Given the description of an element on the screen output the (x, y) to click on. 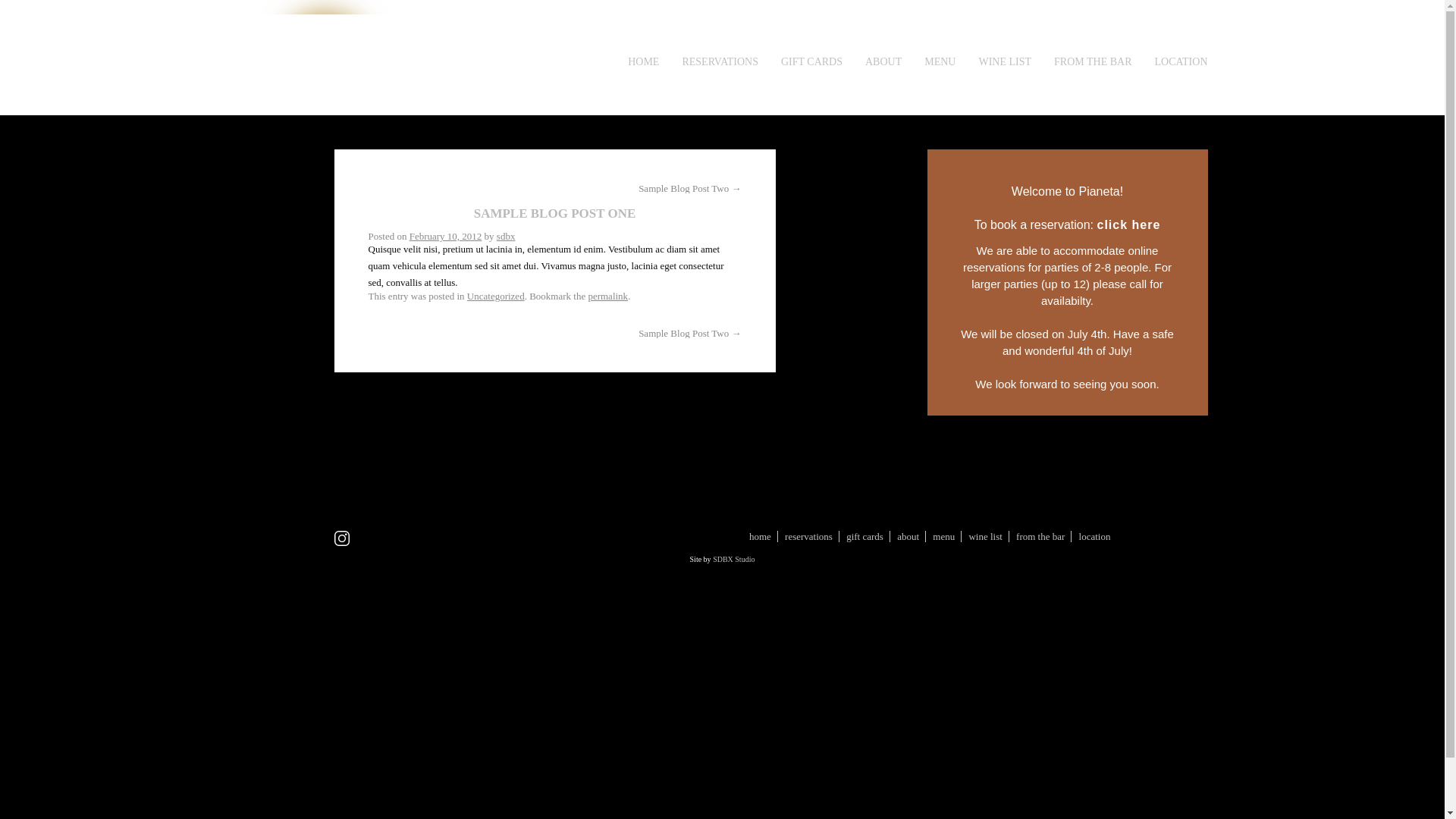
ABOUT (882, 61)
GIFT CARDS (811, 61)
FROM THE BAR (1092, 61)
permalink (607, 296)
LOCATION (1180, 61)
8:04 pm (445, 235)
sdbx (505, 235)
MENU (939, 61)
home (760, 536)
click here (1128, 224)
from the bar (1040, 536)
Uncategorized (495, 296)
HOME (643, 61)
location (1094, 536)
Permalink to Sample Blog Post One (607, 296)
